Given the description of an element on the screen output the (x, y) to click on. 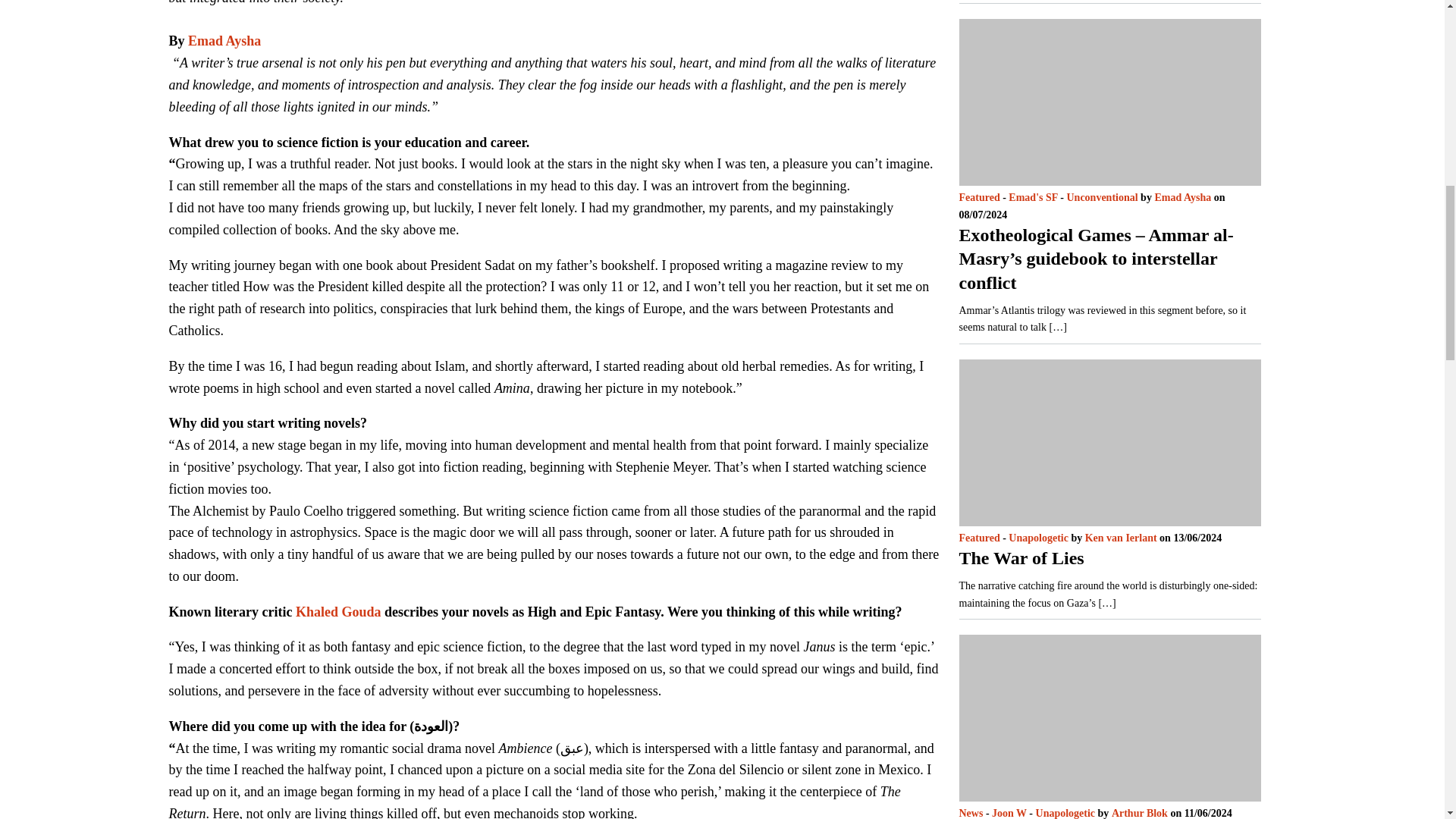
Emad Aysha (223, 40)
Khaled Gouda (338, 611)
